Given the description of an element on the screen output the (x, y) to click on. 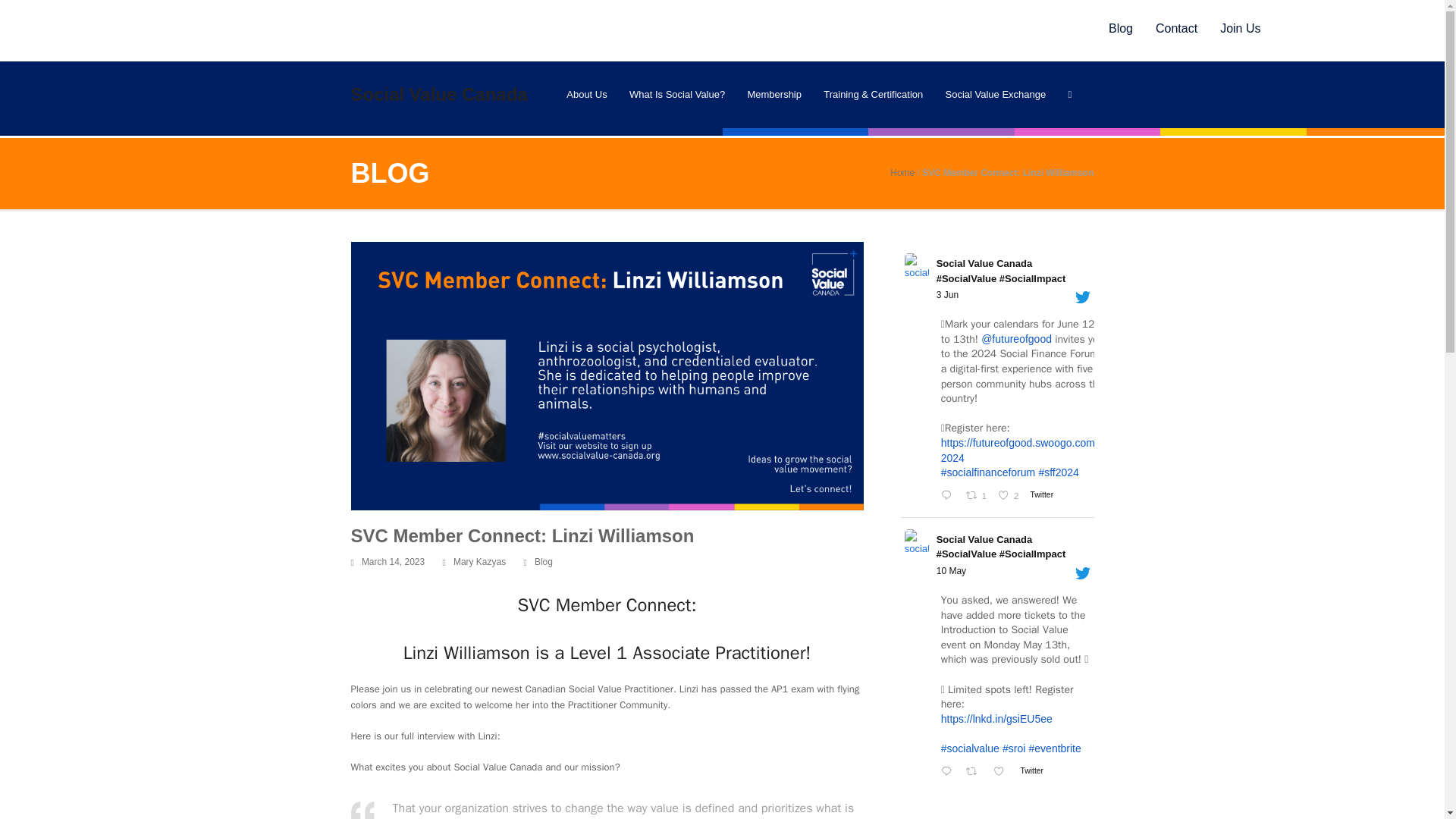
Social Value Exchange (994, 94)
Social Value Canada (438, 94)
Posts by Mary Kazyas (478, 561)
Membership (774, 94)
Contact (1164, 28)
About Us (586, 94)
Blog (1109, 28)
What Is Social Value? (676, 94)
Join Us (1228, 28)
